Given the description of an element on the screen output the (x, y) to click on. 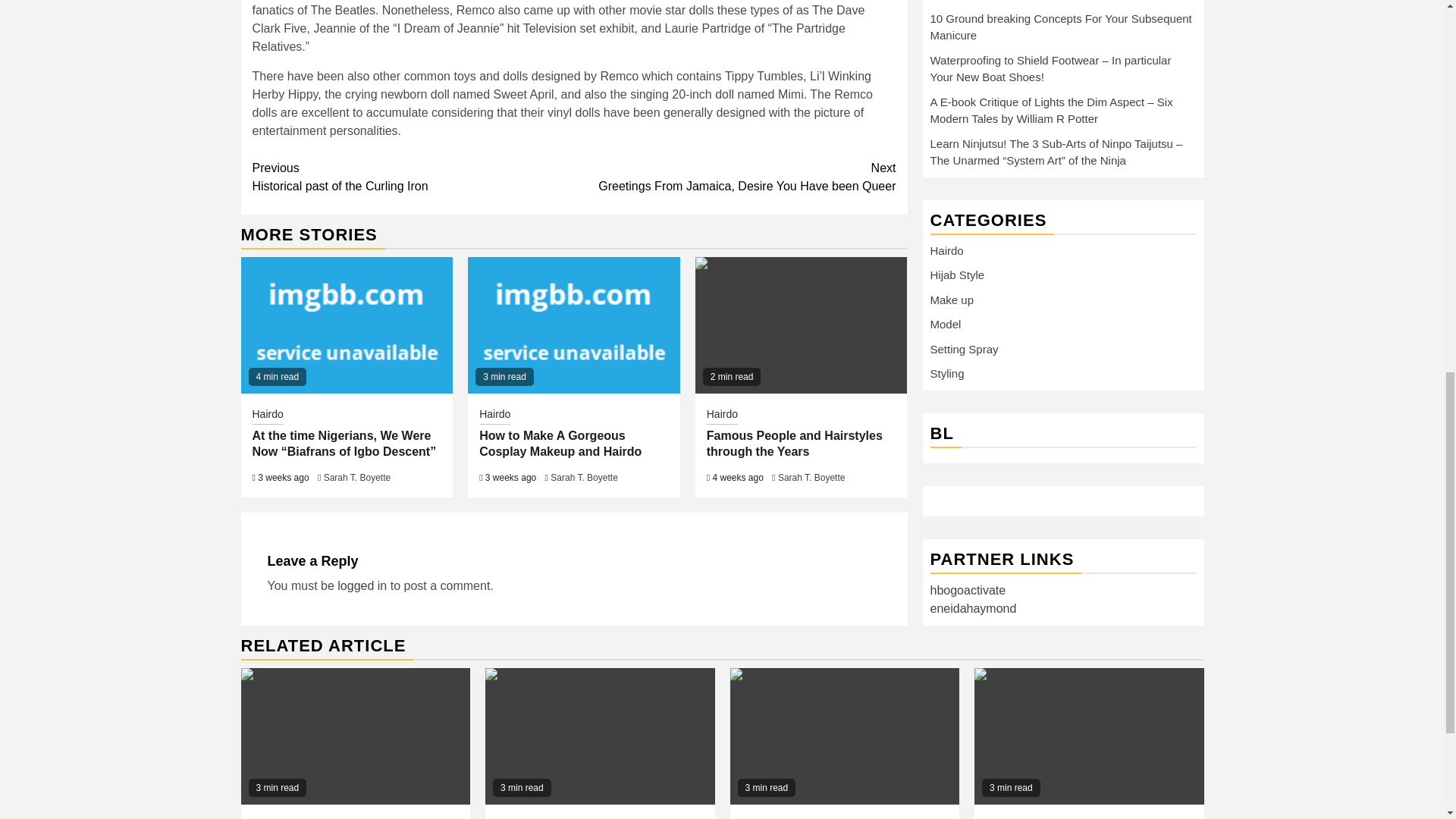
Hairdo (266, 415)
Sarah T. Boyette (412, 176)
Sarah T. Boyette (811, 477)
Hairdo (734, 176)
The Execs and Disadvantages of the Grow Coaching Design (583, 477)
Famous People and Hairstyles through the Years (495, 415)
Hairdo (355, 736)
10 Ground breaking Concepts For Your Subsequent Manicure (794, 443)
Famous People and Hairstyles through the Years (722, 415)
Sarah T. Boyette (599, 736)
How to Make A Gorgeous Cosplay Makeup and Hairdo (801, 325)
logged in (357, 477)
How to Make A Gorgeous Cosplay Makeup and Hairdo (560, 443)
